Given the description of an element on the screen output the (x, y) to click on. 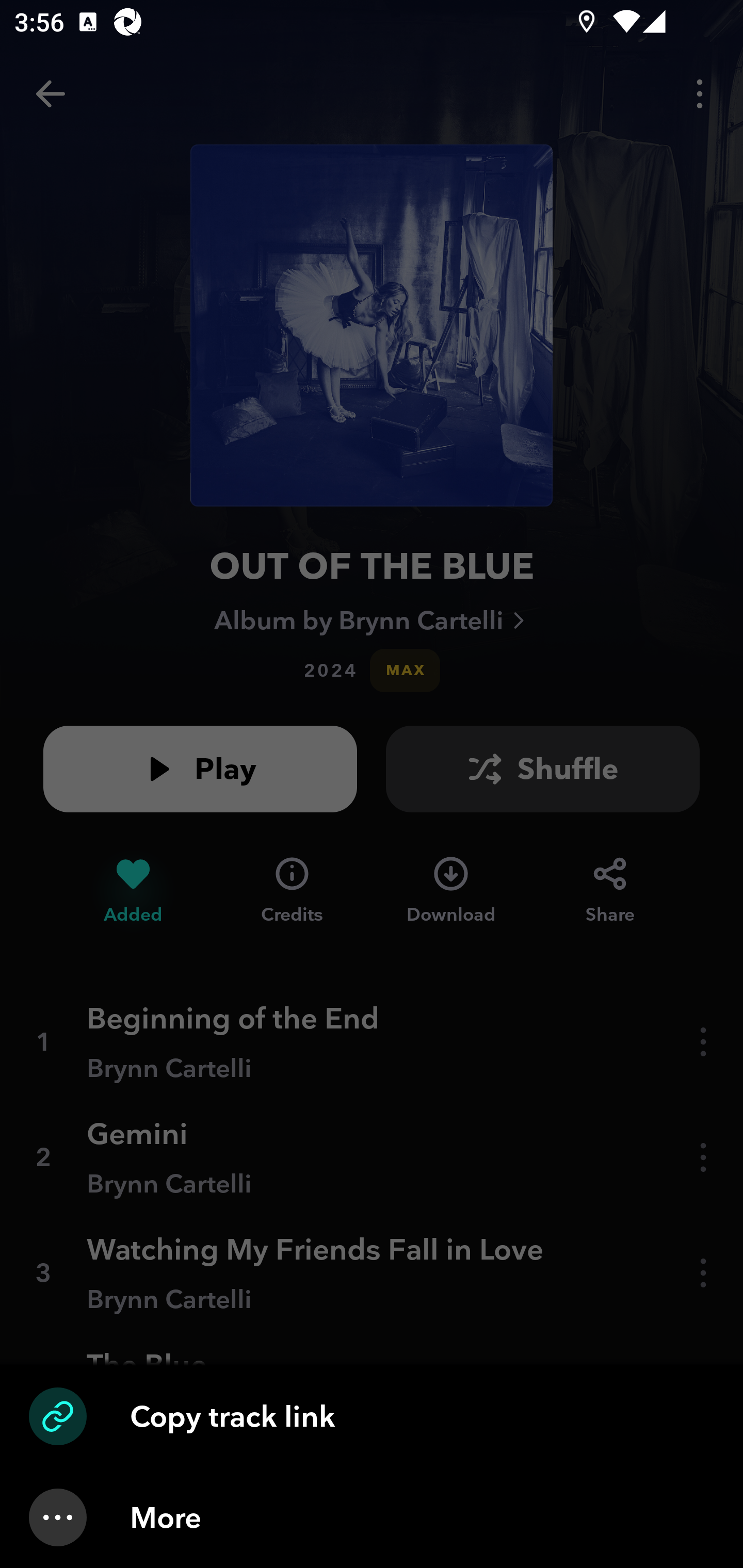
Copy track link (371, 1416)
More (371, 1517)
